Given the description of an element on the screen output the (x, y) to click on. 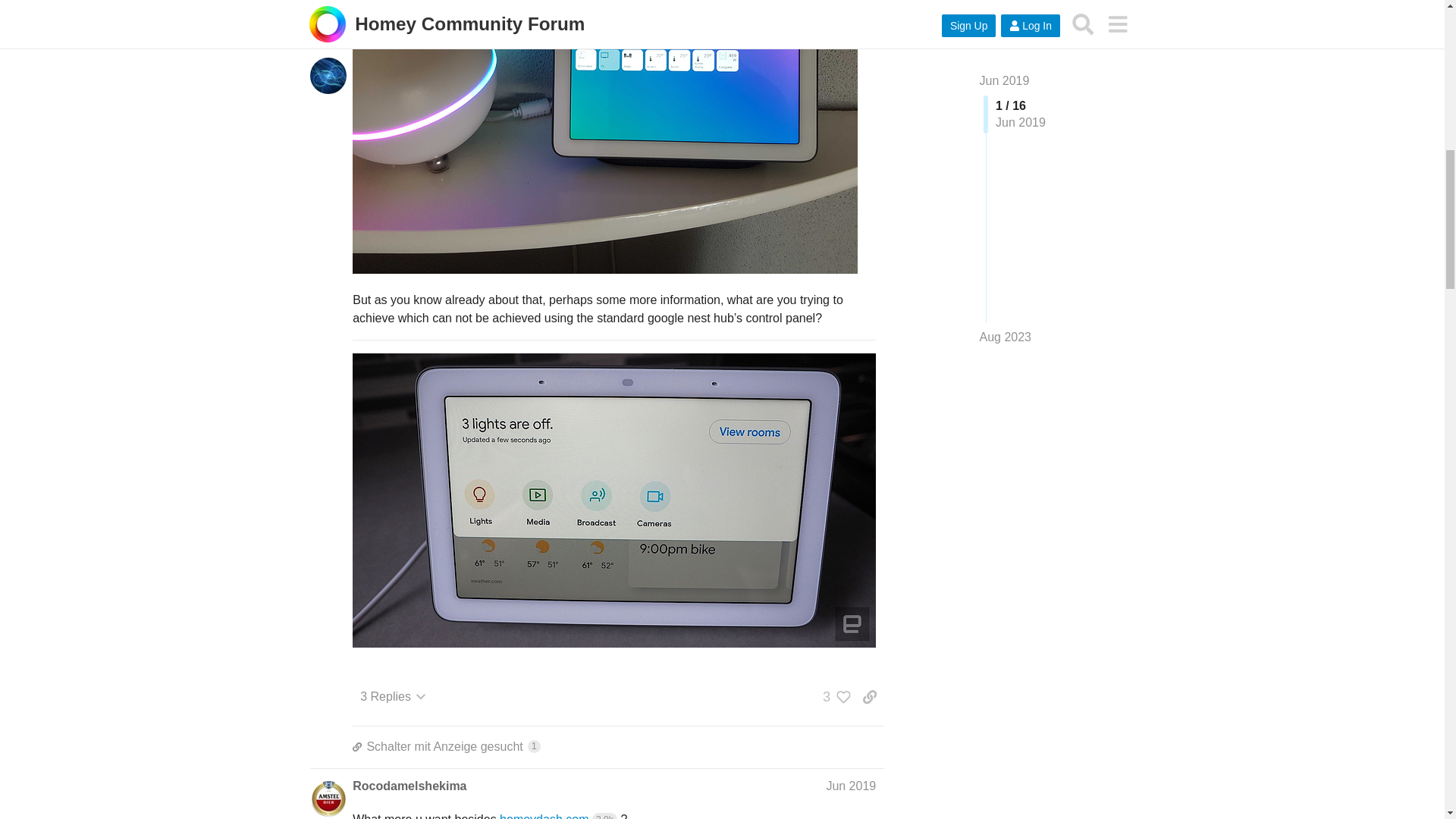
Rocodamelshekima (617, 746)
3 Replies (408, 786)
3 (392, 696)
